Given the description of an element on the screen output the (x, y) to click on. 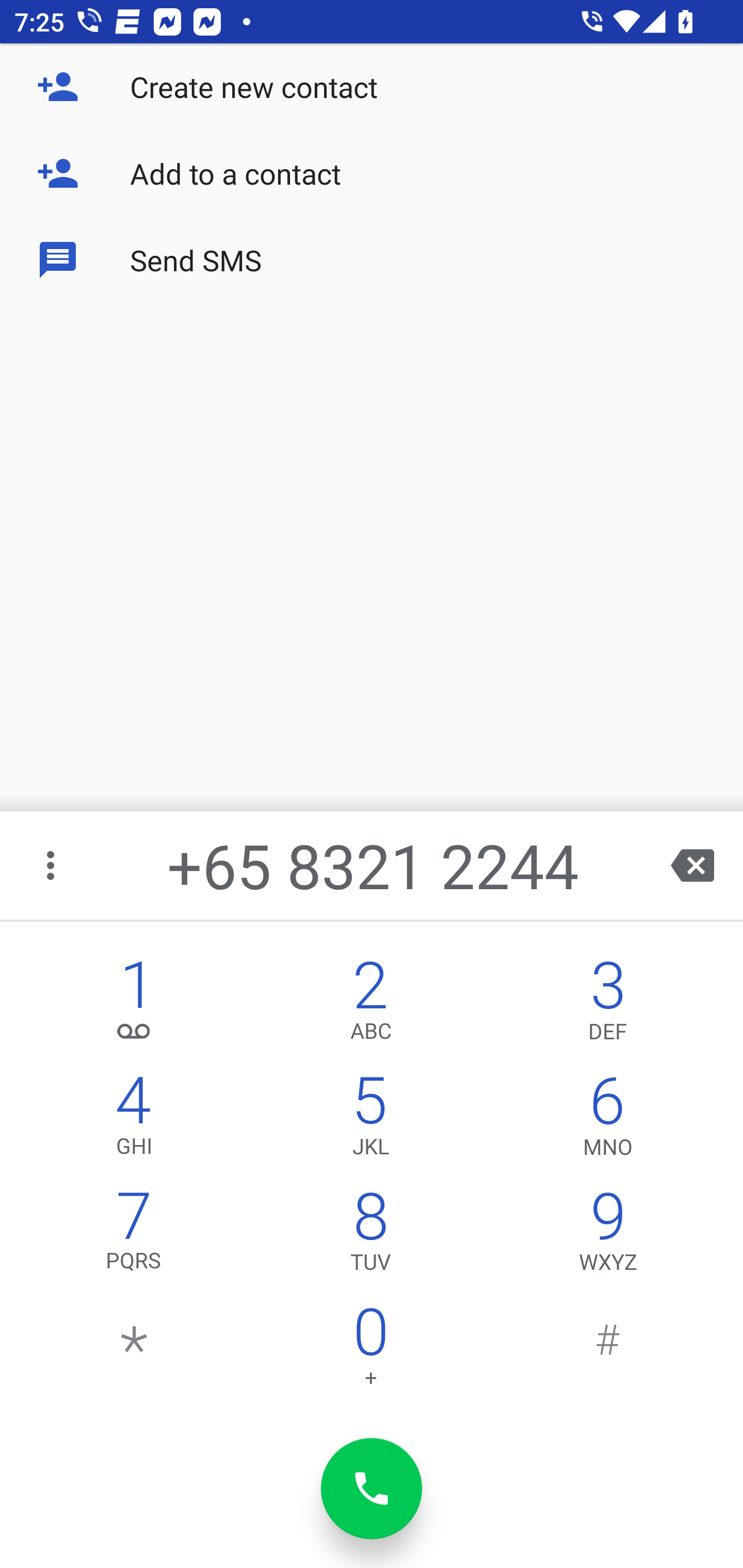
Create new contact (371, 86)
Add to a contact (371, 173)
Send SMS (371, 259)
+65 8321 2244 (372, 865)
backspace (692, 865)
More options (52, 865)
1, 1 (133, 1005)
2,ABC 2 ABC (370, 1005)
3,DEF 3 DEF (607, 1005)
4,GHI 4 GHI (133, 1120)
5,JKL 5 JKL (370, 1120)
6,MNO 6 MNO (607, 1120)
7,PQRS 7 PQRS (133, 1235)
8,TUV 8 TUV (370, 1235)
9,WXYZ 9 WXYZ (607, 1235)
* (133, 1351)
0 0 + (370, 1351)
# (607, 1351)
dial (371, 1488)
